Given the description of an element on the screen output the (x, y) to click on. 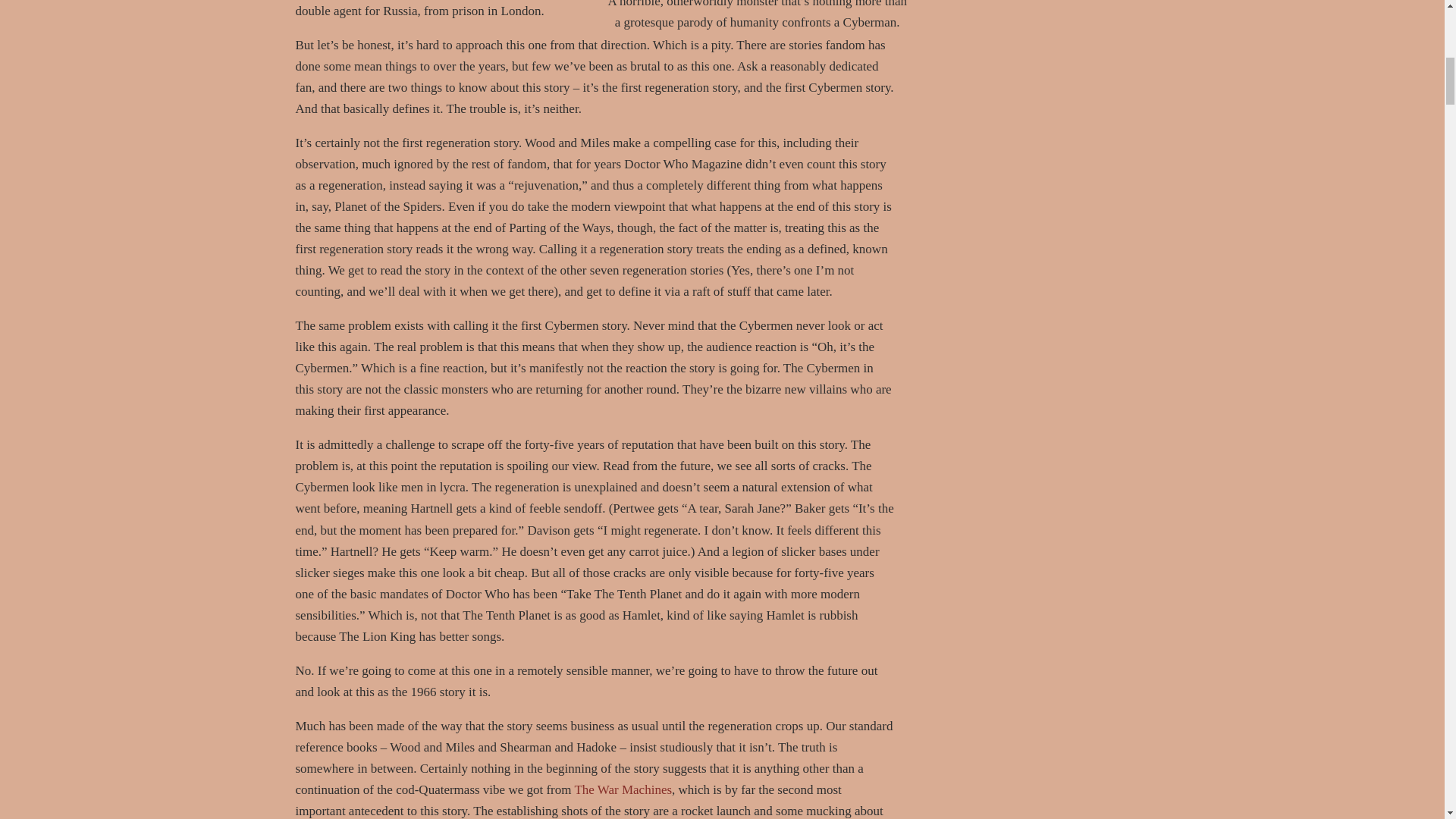
The War Machines (622, 789)
